Given the description of an element on the screen output the (x, y) to click on. 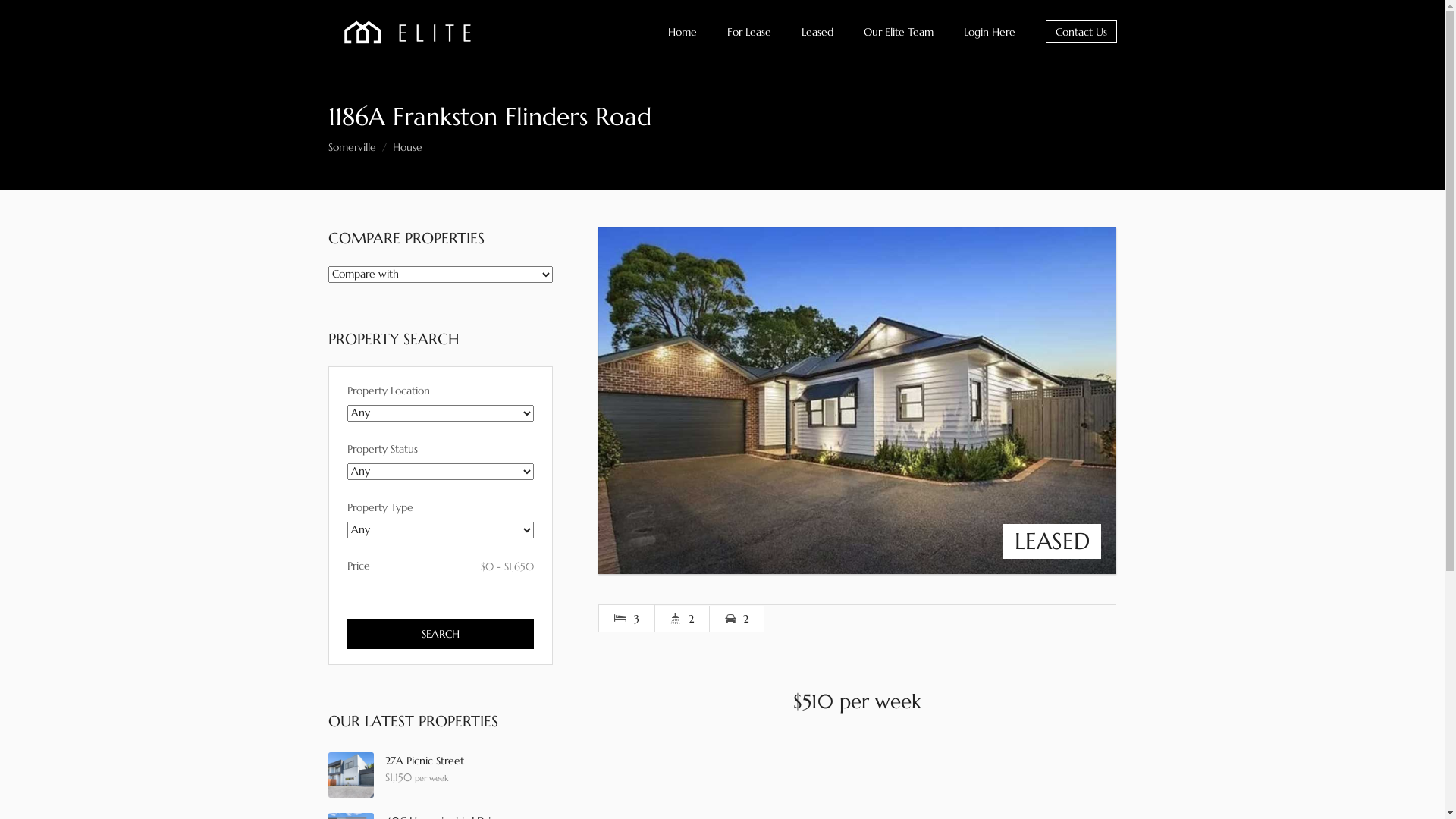
Log In Element type: text (721, 285)
27A Picnic Street Element type: text (424, 760)
Our Elite Team Element type: text (897, 32)
House Element type: text (407, 146)
Home Element type: text (681, 32)
Login Here Element type: text (988, 32)
Leased Element type: text (816, 32)
SEARCH Element type: text (440, 633)
Somerville Element type: text (351, 146)
Contact Us Element type: text (1080, 31)
For Lease Element type: text (748, 32)
2 Element type: hover (857, 399)
